Given the description of an element on the screen output the (x, y) to click on. 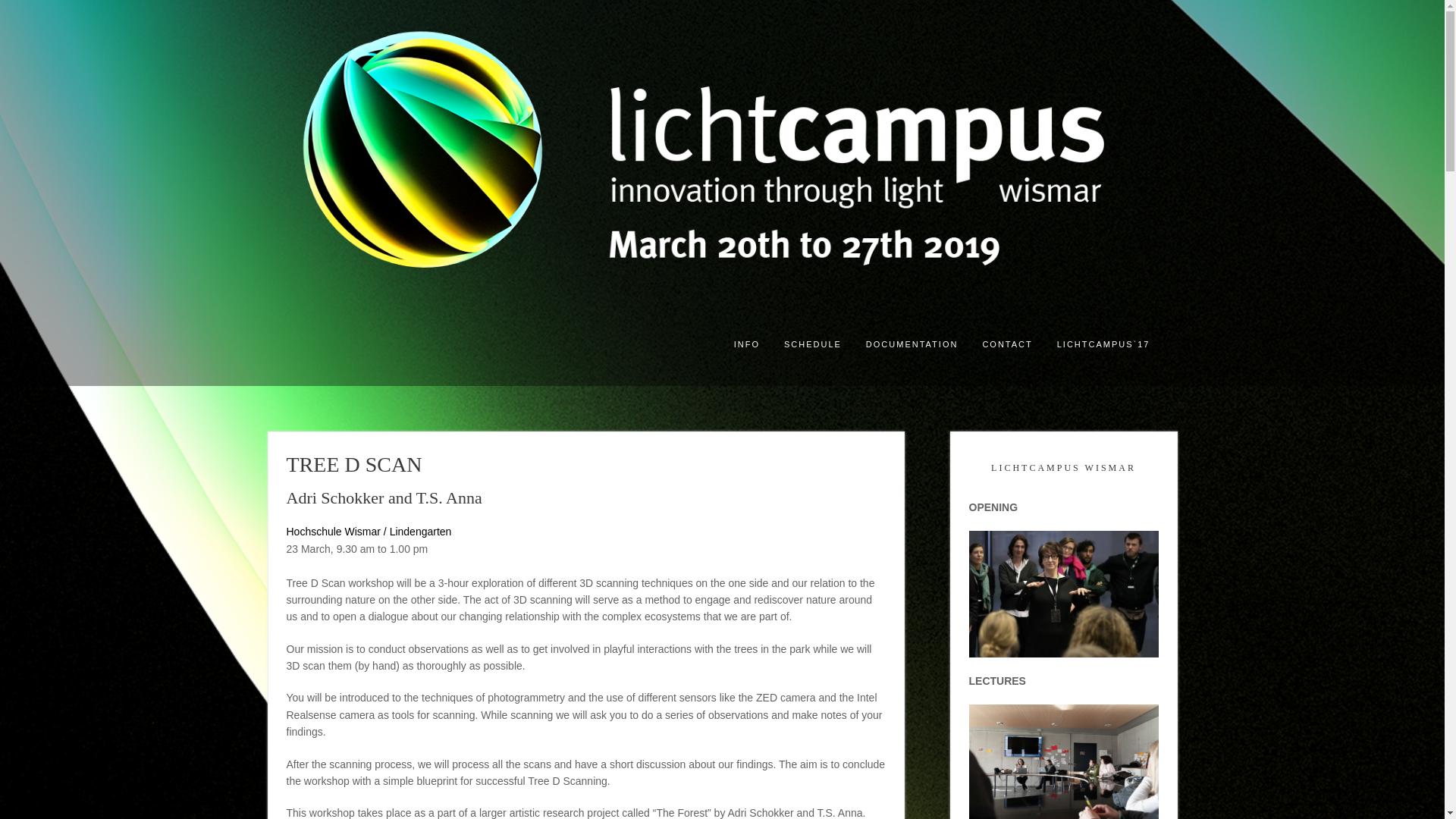
SCHEDULE (812, 345)
DOCUMENTATION (912, 345)
CONTACT (1006, 345)
